Given the description of an element on the screen output the (x, y) to click on. 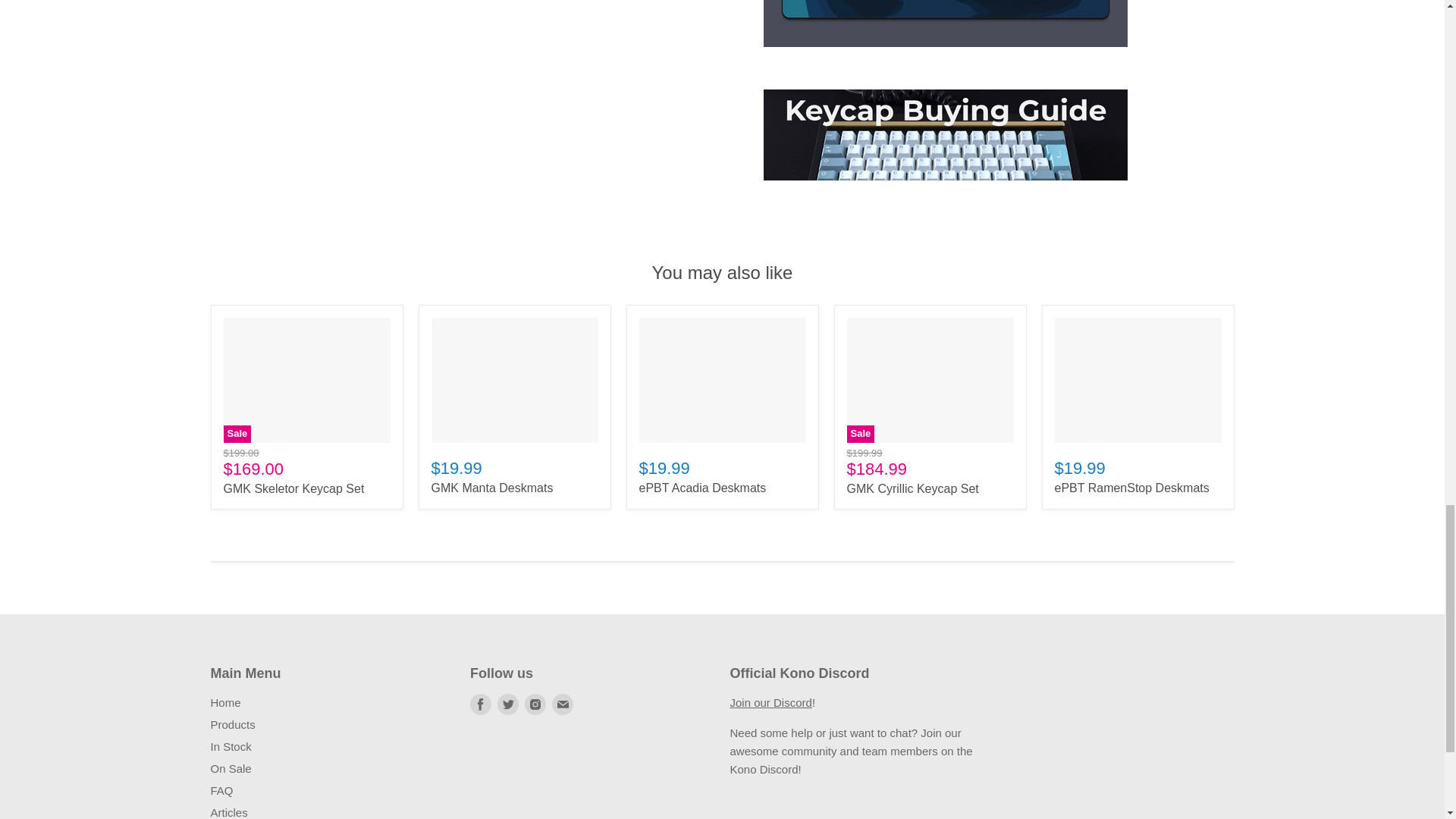
Kono Store Keycap Buying Guide (944, 187)
Twitter (507, 703)
Instagram (535, 703)
Facebook (481, 703)
pbtfans-basin-deskmats (944, 54)
Email (562, 703)
